Given the description of an element on the screen output the (x, y) to click on. 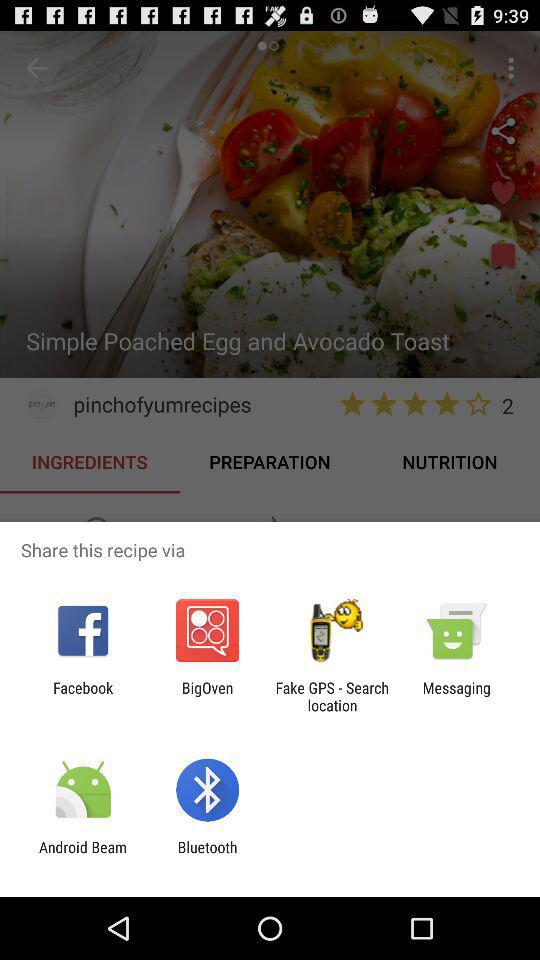
open app next to bluetooth icon (83, 856)
